Given the description of an element on the screen output the (x, y) to click on. 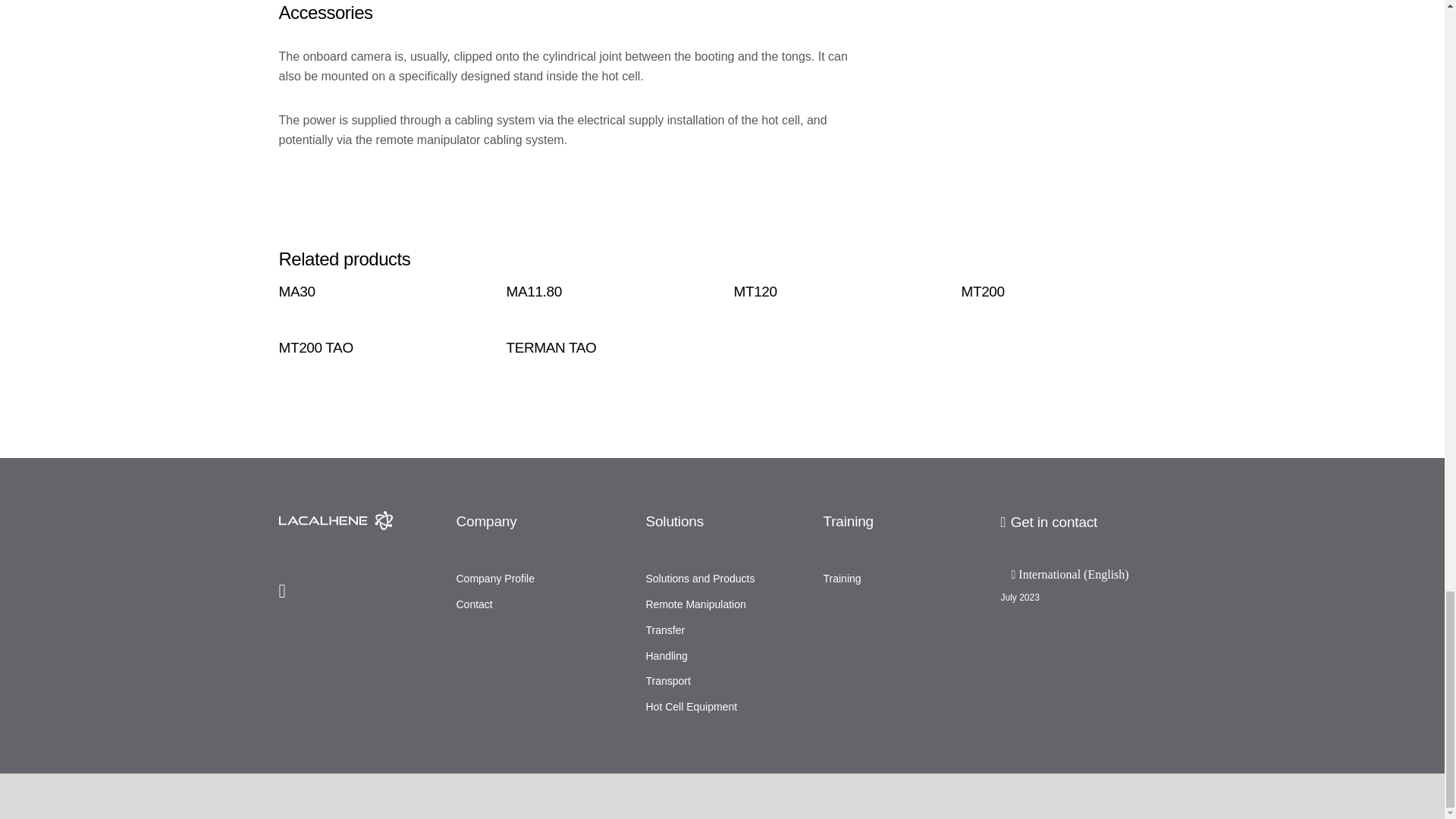
MA30 (381, 291)
MT200 (1063, 291)
MA11.80 (608, 291)
MT120 (836, 291)
Select language (1083, 574)
